Given the description of an element on the screen output the (x, y) to click on. 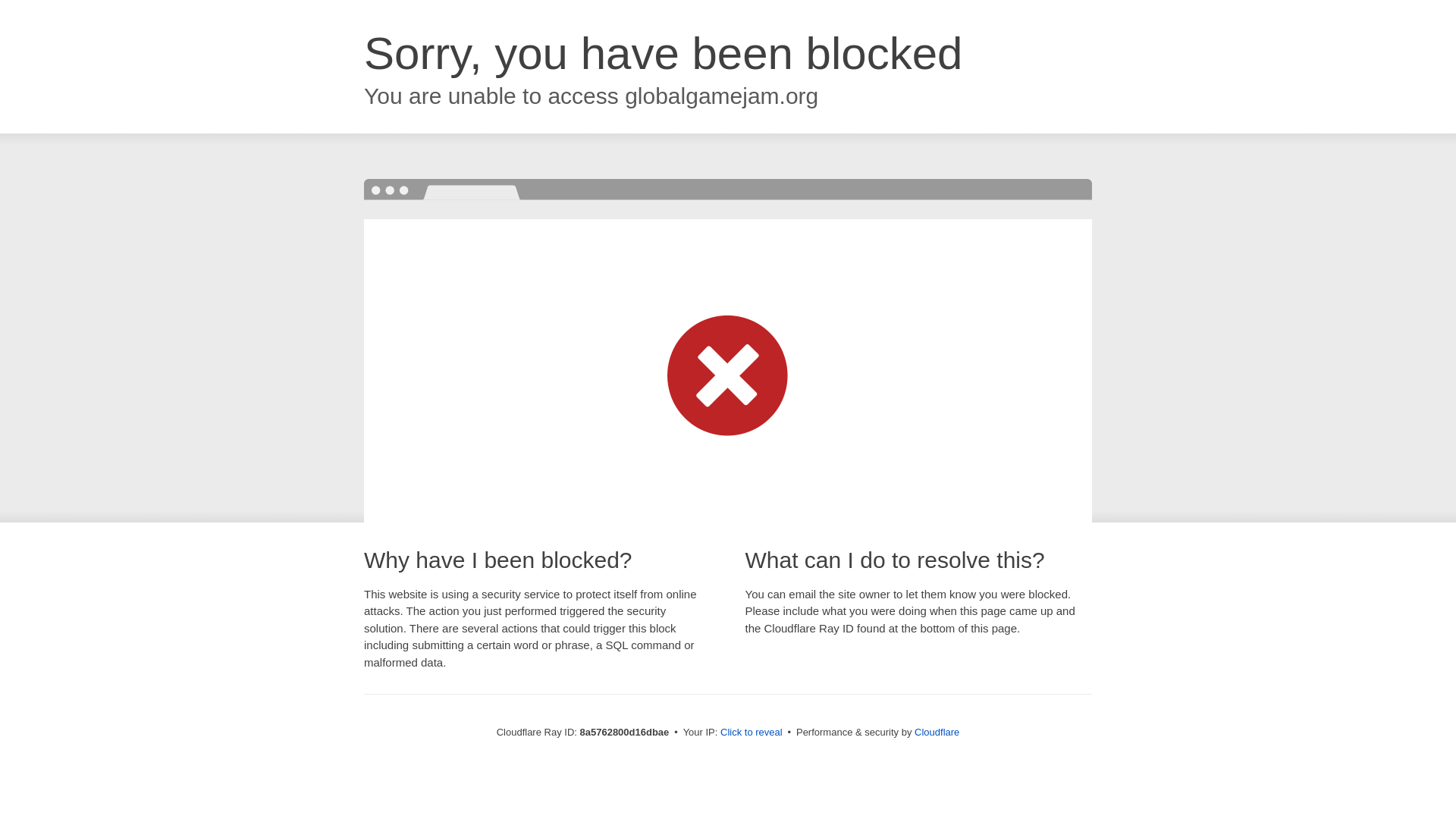
Click to reveal (751, 732)
Cloudflare (936, 731)
